Given the description of an element on the screen output the (x, y) to click on. 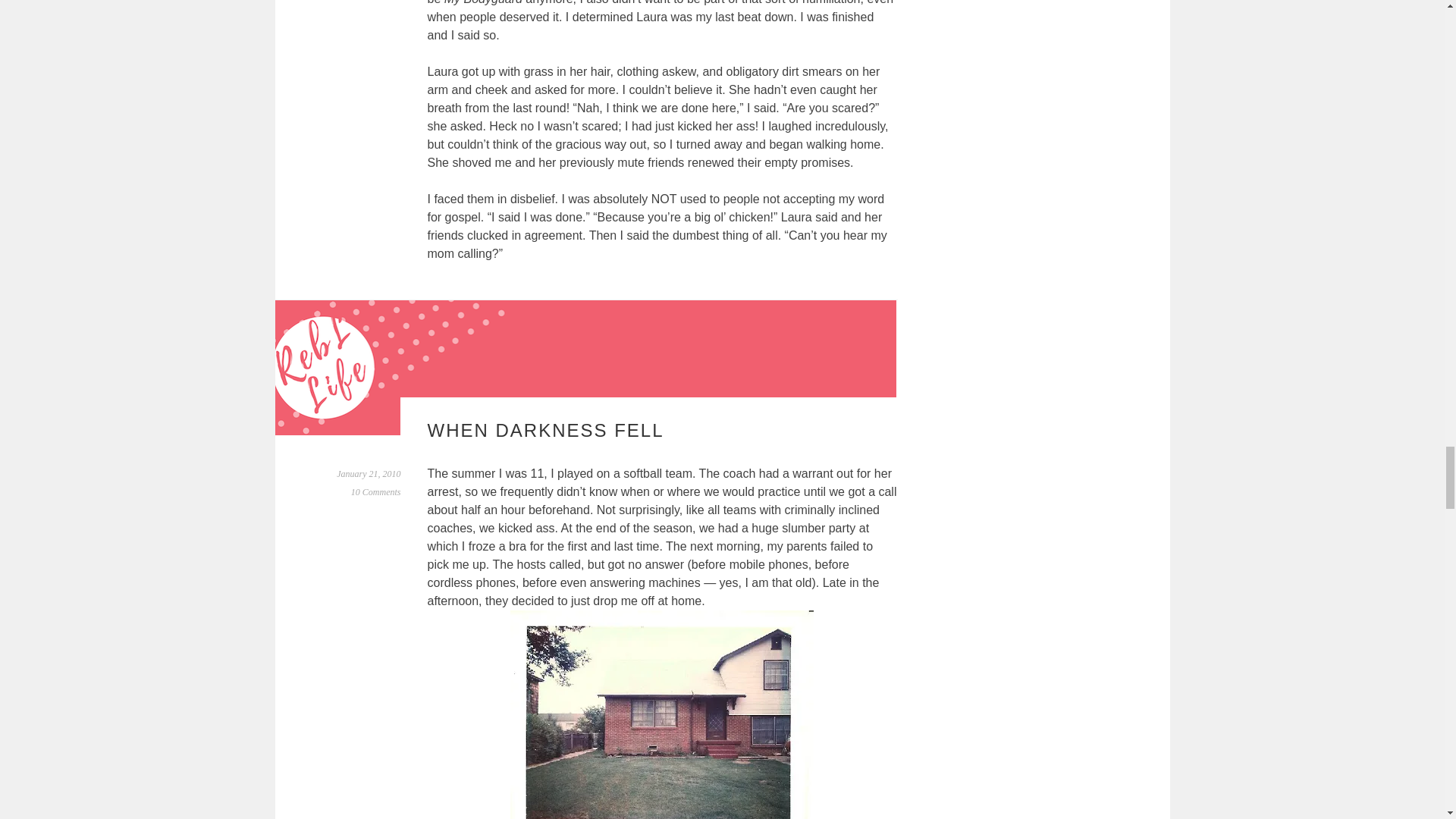
Permalink to When Darkness Fell (368, 473)
